Given the description of an element on the screen output the (x, y) to click on. 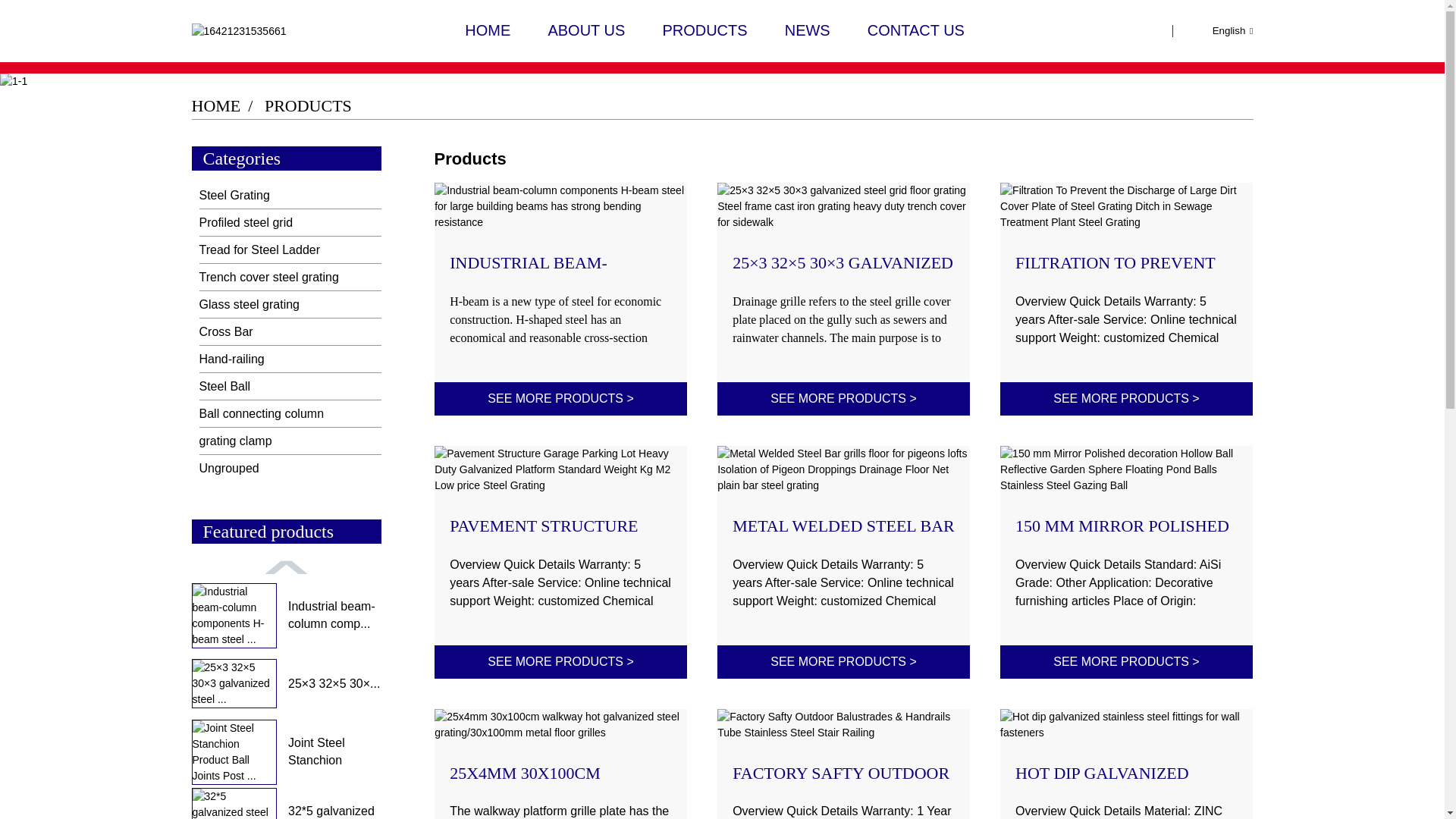
CONTACT US (915, 30)
Profiled steel grid (275, 222)
English (1220, 30)
PRODUCTS (308, 105)
ABOUT US (585, 30)
Cross Bar (275, 331)
Steel Grating (275, 194)
Hand-railing (275, 358)
HOME (215, 105)
PRODUCTS (704, 30)
